Given the description of an element on the screen output the (x, y) to click on. 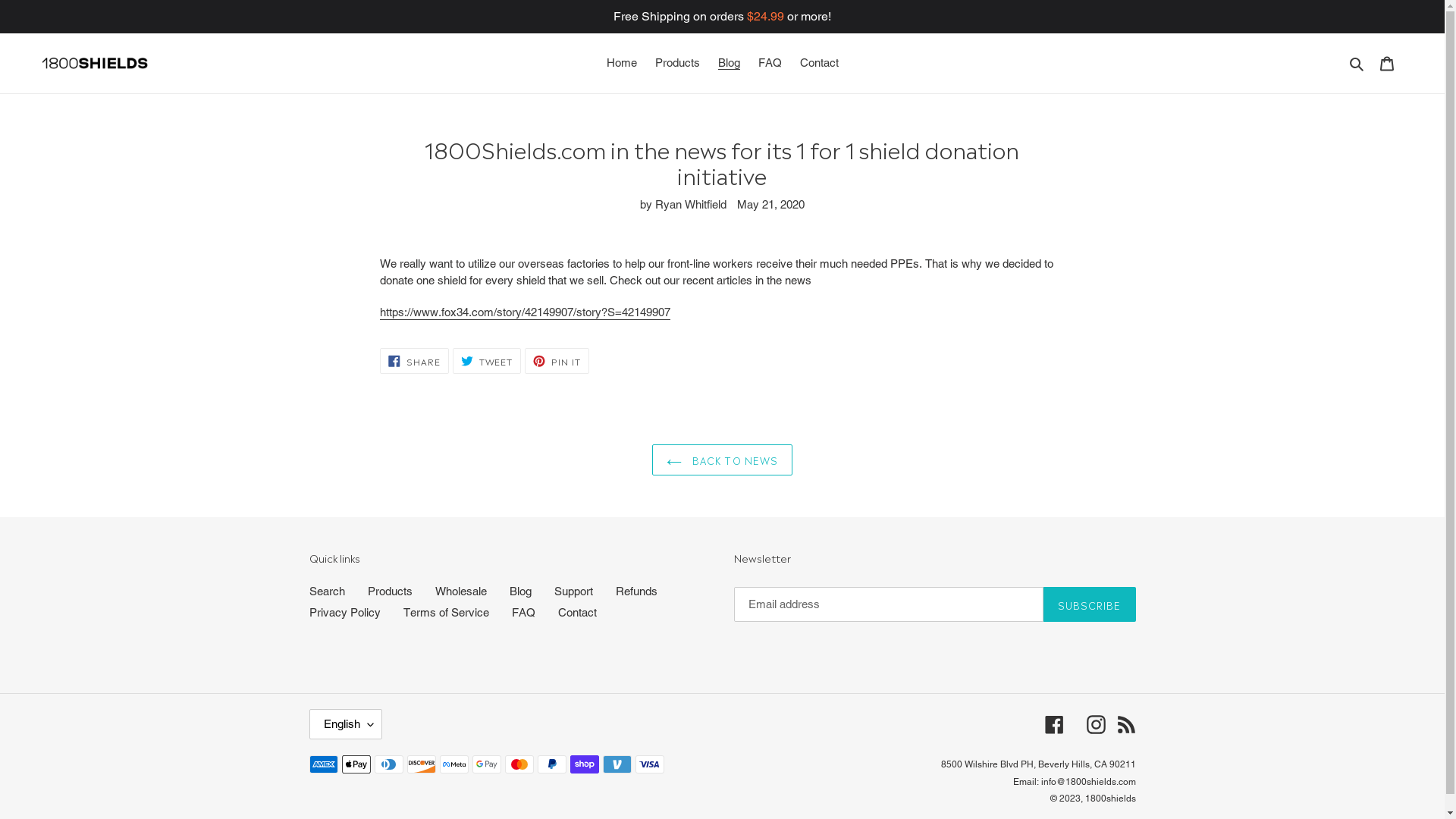
BACK TO NEWS Element type: text (722, 460)
Cart Element type: text (1386, 63)
SHARE
SHARE ON FACEBOOK Element type: text (413, 361)
Free Shipping on orders $24.99 or more! Element type: text (722, 16)
Support Element type: text (572, 590)
FAQ Element type: text (769, 63)
Products Element type: text (677, 63)
Contact Element type: text (577, 611)
Contact Element type: text (818, 63)
Search Element type: text (327, 590)
Wholesale Element type: text (460, 590)
English Element type: text (345, 724)
Refunds Element type: text (636, 590)
Search Element type: text (1357, 62)
Blog Element type: text (520, 590)
SUBSCRIBE Element type: text (1089, 603)
Blog Element type: text (727, 63)
PIN IT
PIN ON PINTEREST Element type: text (556, 361)
https://www.fox34.com/story/42149907/story?S=42149907 Element type: text (524, 312)
FAQ Element type: text (522, 611)
1800shields Element type: text (1109, 798)
Terms of Service Element type: text (446, 611)
Products Element type: text (389, 590)
TWEET
TWEET ON TWITTER Element type: text (486, 361)
Facebook Element type: text (1053, 724)
Instagram Element type: text (1094, 724)
Privacy Policy Element type: text (344, 611)
Home Element type: text (621, 63)
RSS Element type: text (1125, 724)
